Given the description of an element on the screen output the (x, y) to click on. 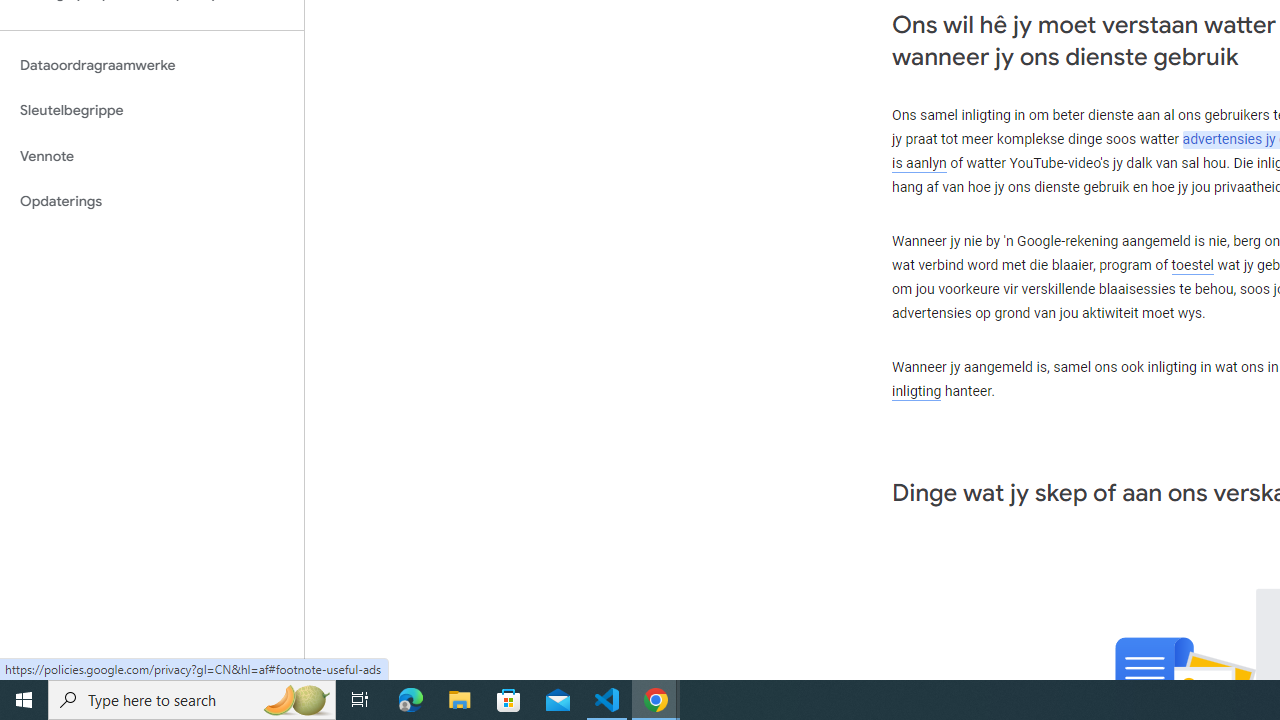
Opdaterings (152, 201)
Vennote (152, 156)
Sleutelbegrippe (152, 110)
toestel (1192, 265)
Dataoordragraamwerke (152, 65)
